Given the description of an element on the screen output the (x, y) to click on. 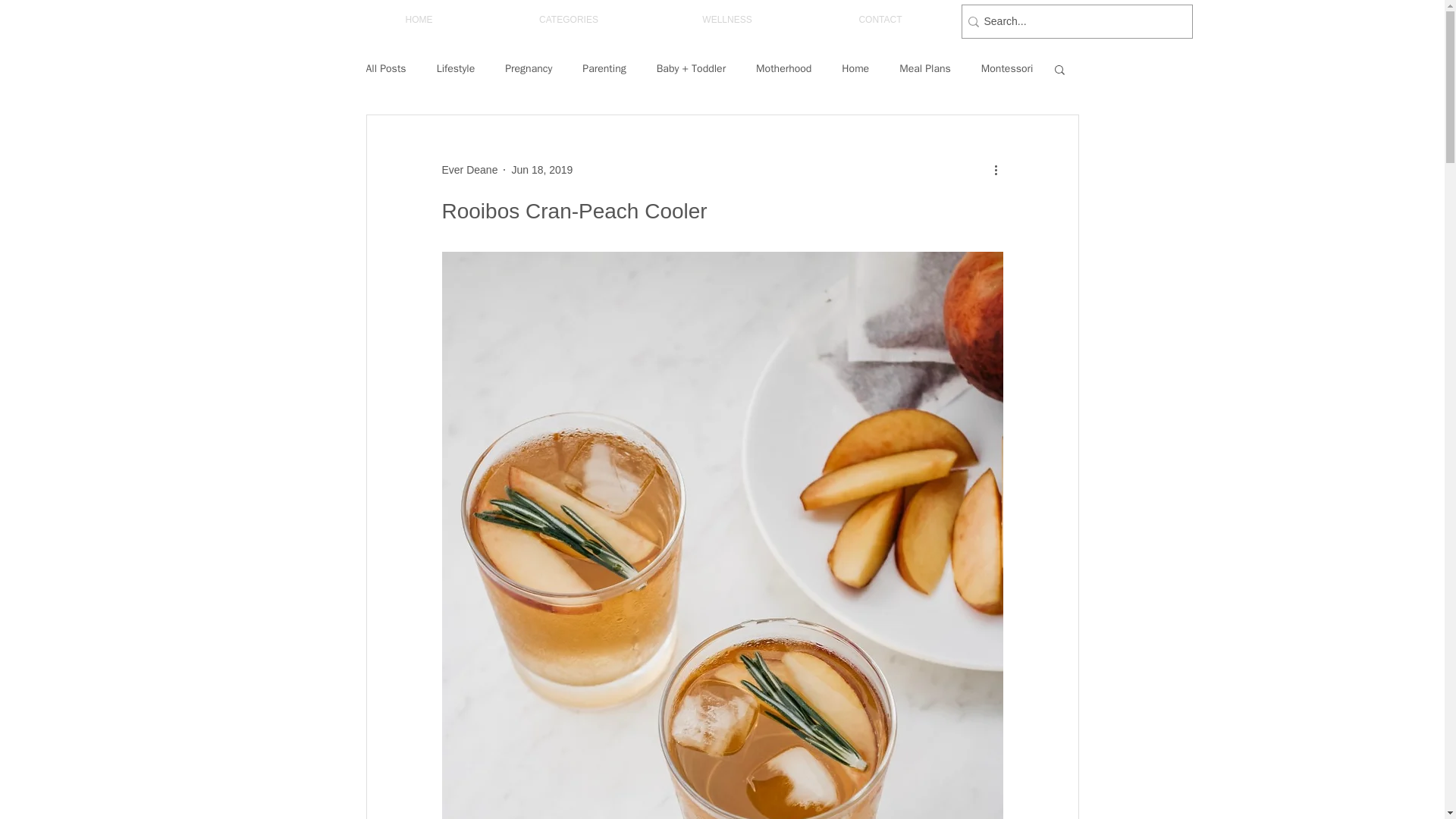
Ever Deane (469, 170)
Meal Plans (924, 69)
HOME (418, 19)
CONTACT (879, 19)
Jun 18, 2019 (541, 169)
Parenting (604, 69)
Pregnancy (528, 69)
All Posts (385, 69)
Home (855, 69)
Lifestyle (456, 69)
Motherhood (782, 69)
Montessori (1007, 69)
WELLNESS (727, 19)
